Given the description of an element on the screen output the (x, y) to click on. 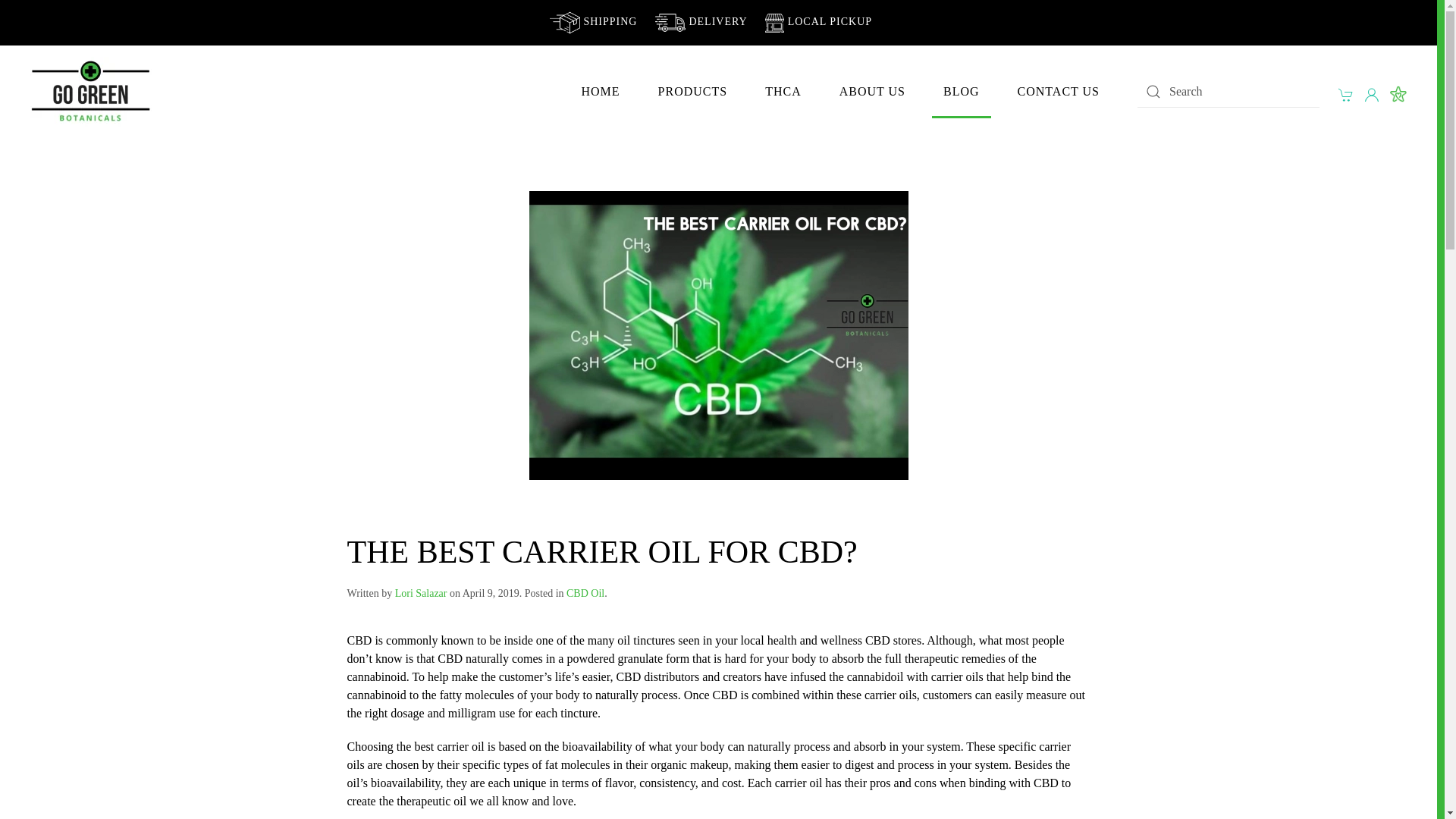
DELIVERY (701, 21)
PRODUCTS (692, 91)
SHIPPING (593, 21)
BLOG (961, 91)
ABOUT US (872, 91)
CONTACT US (1058, 91)
Lori Salazar (420, 593)
THCA (783, 91)
LOCAL PICKUP (818, 21)
HOME (600, 91)
